Given the description of an element on the screen output the (x, y) to click on. 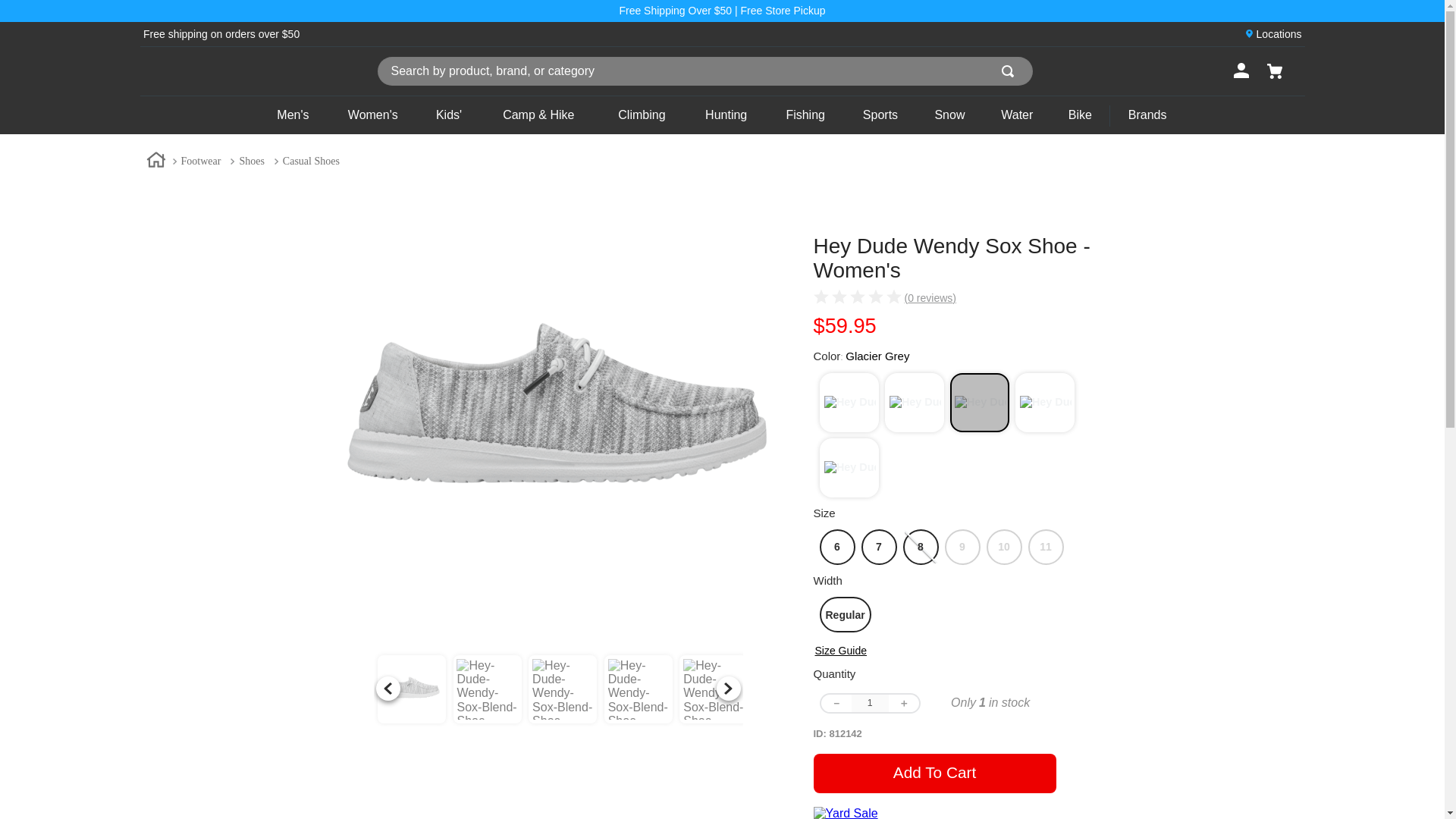
Bike (1079, 115)
Kids' (448, 115)
Climbing (641, 115)
Bike (1079, 115)
Snow (949, 115)
Women's (372, 115)
1 (869, 702)
Shoes (250, 160)
Locations (1278, 33)
Water (1017, 115)
Men's (292, 115)
Water (1017, 115)
Women's (372, 115)
Footwear (200, 160)
